Given the description of an element on the screen output the (x, y) to click on. 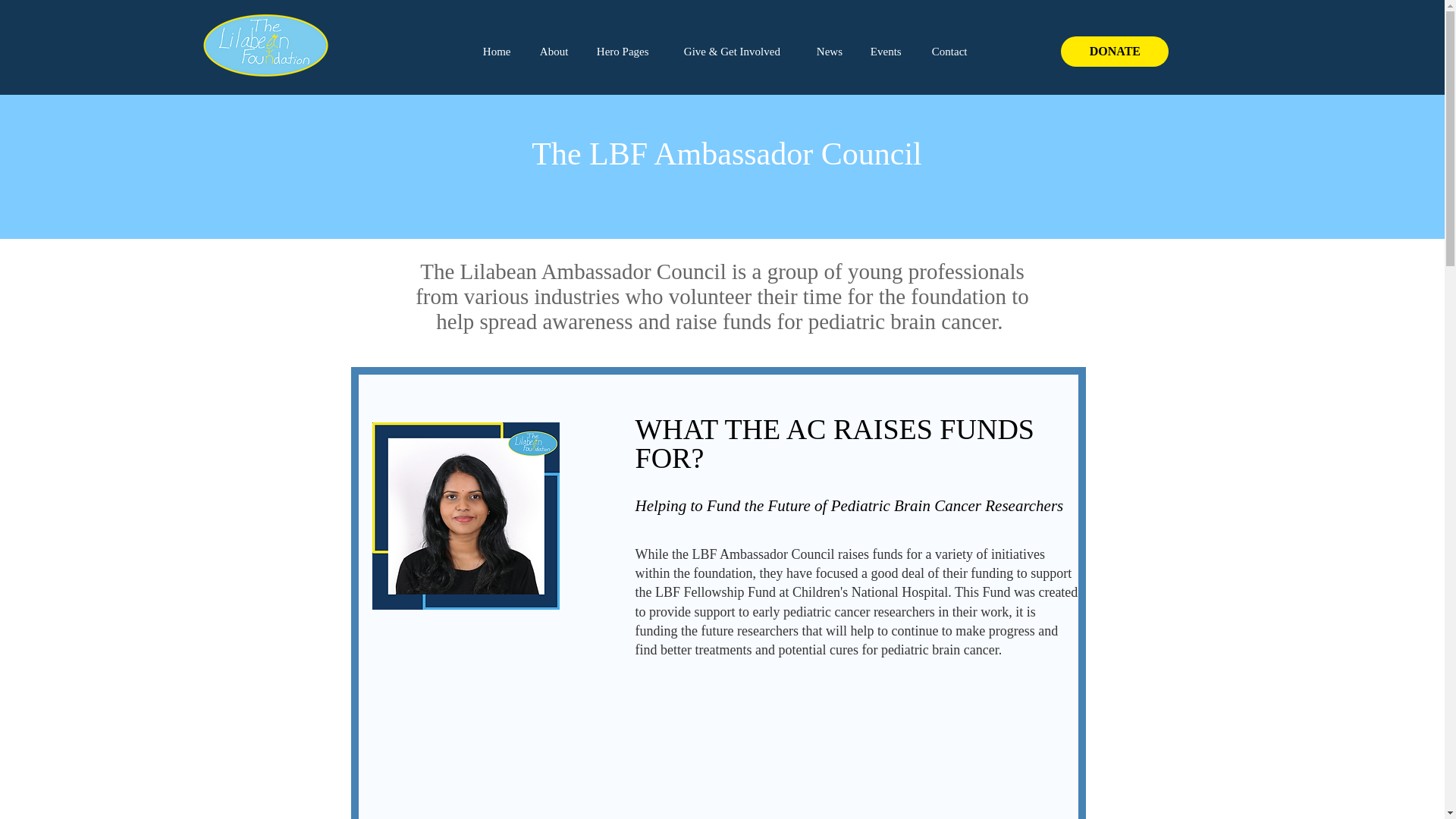
Events (889, 51)
News (832, 51)
About (556, 51)
Home (499, 51)
Hero Pages (628, 51)
